Given the description of an element on the screen output the (x, y) to click on. 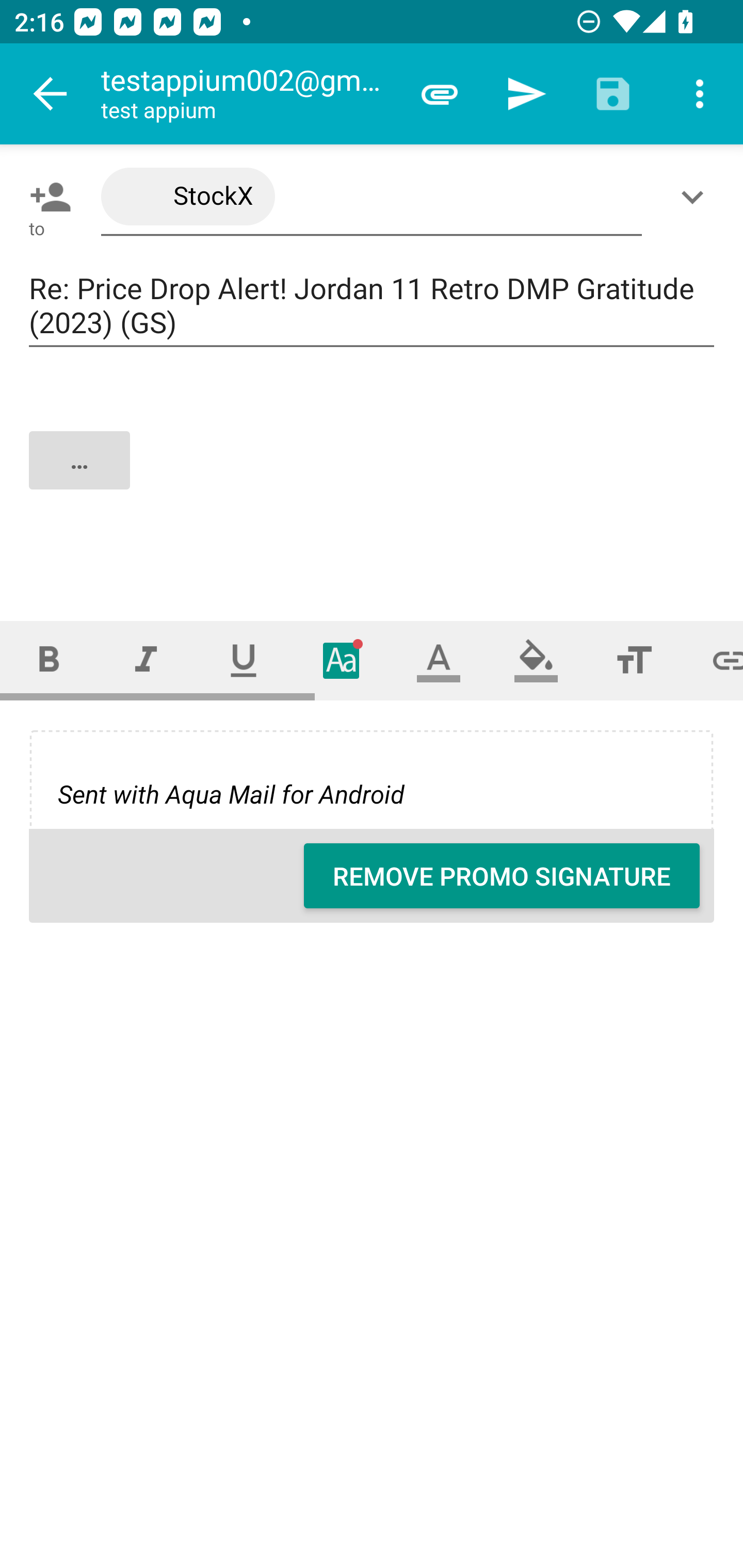
Navigate up (50, 93)
testappium002@gmail.com test appium (248, 93)
Attach (439, 93)
Send (525, 93)
Save (612, 93)
More options (699, 93)
StockX <noreply@stockx.com>,  (371, 197)
Pick contact: To (46, 196)
Show/Add CC/BCC (696, 196)

…
 (372, 477)
Bold (48, 660)
Italic (145, 660)
Underline (243, 660)
Typeface (font) (341, 660)
Text color (438, 660)
Fill color (536, 660)
Font size (633, 660)
REMOVE PROMO SIGNATURE (501, 875)
